Given the description of an element on the screen output the (x, y) to click on. 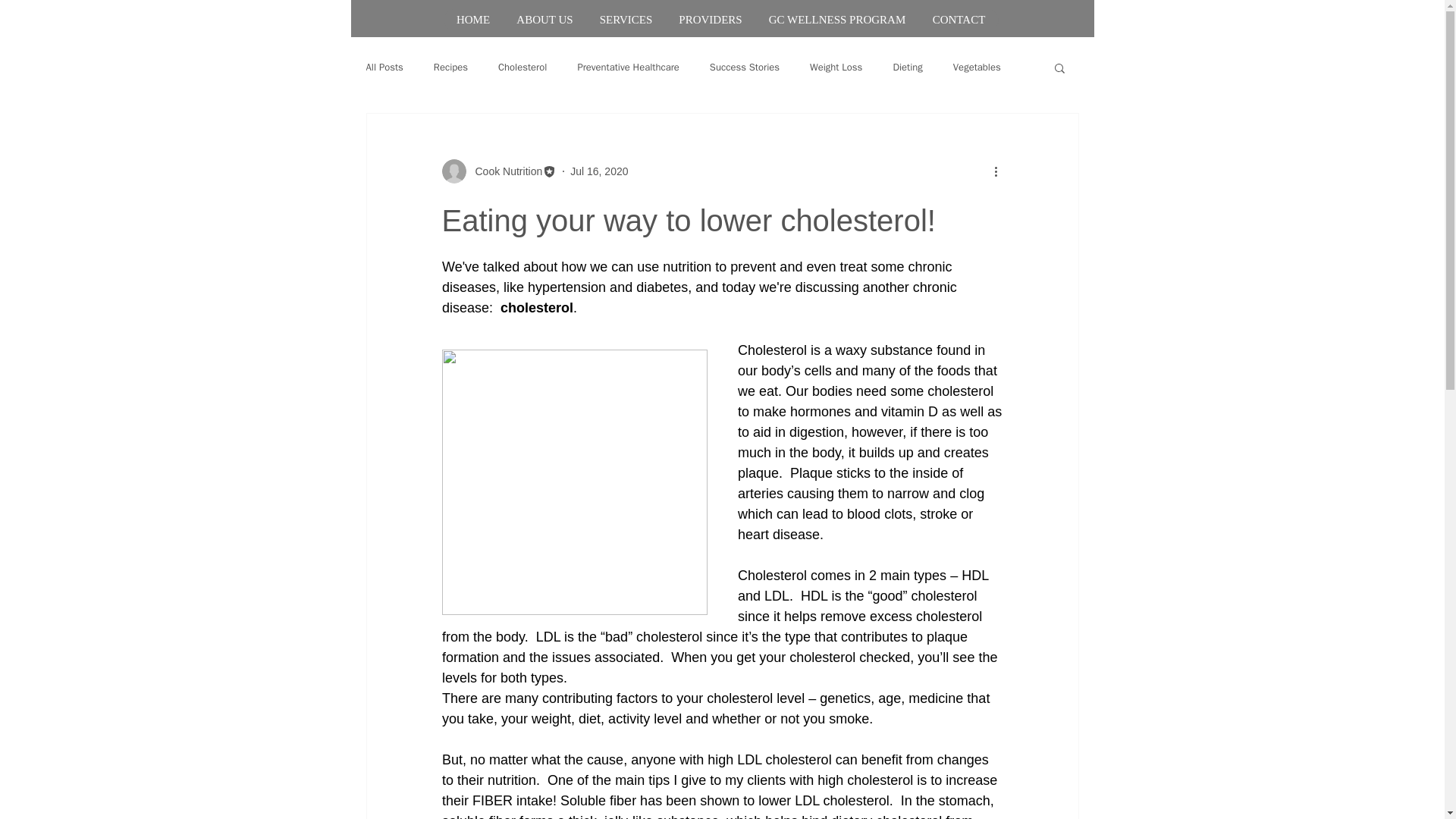
Dieting (906, 67)
PROVIDERS (710, 20)
SERVICES (625, 20)
Success Stories (744, 67)
Cook Nutrition (498, 170)
Cholesterol (522, 67)
Cook Nutrition (503, 171)
ABOUT US (544, 20)
Recipes (450, 67)
Weight Loss (835, 67)
HOME (472, 20)
Preventative Healthcare (627, 67)
All Posts (384, 67)
GC WELLNESS PROGRAM (836, 20)
Vegetables (977, 67)
